Given the description of an element on the screen output the (x, y) to click on. 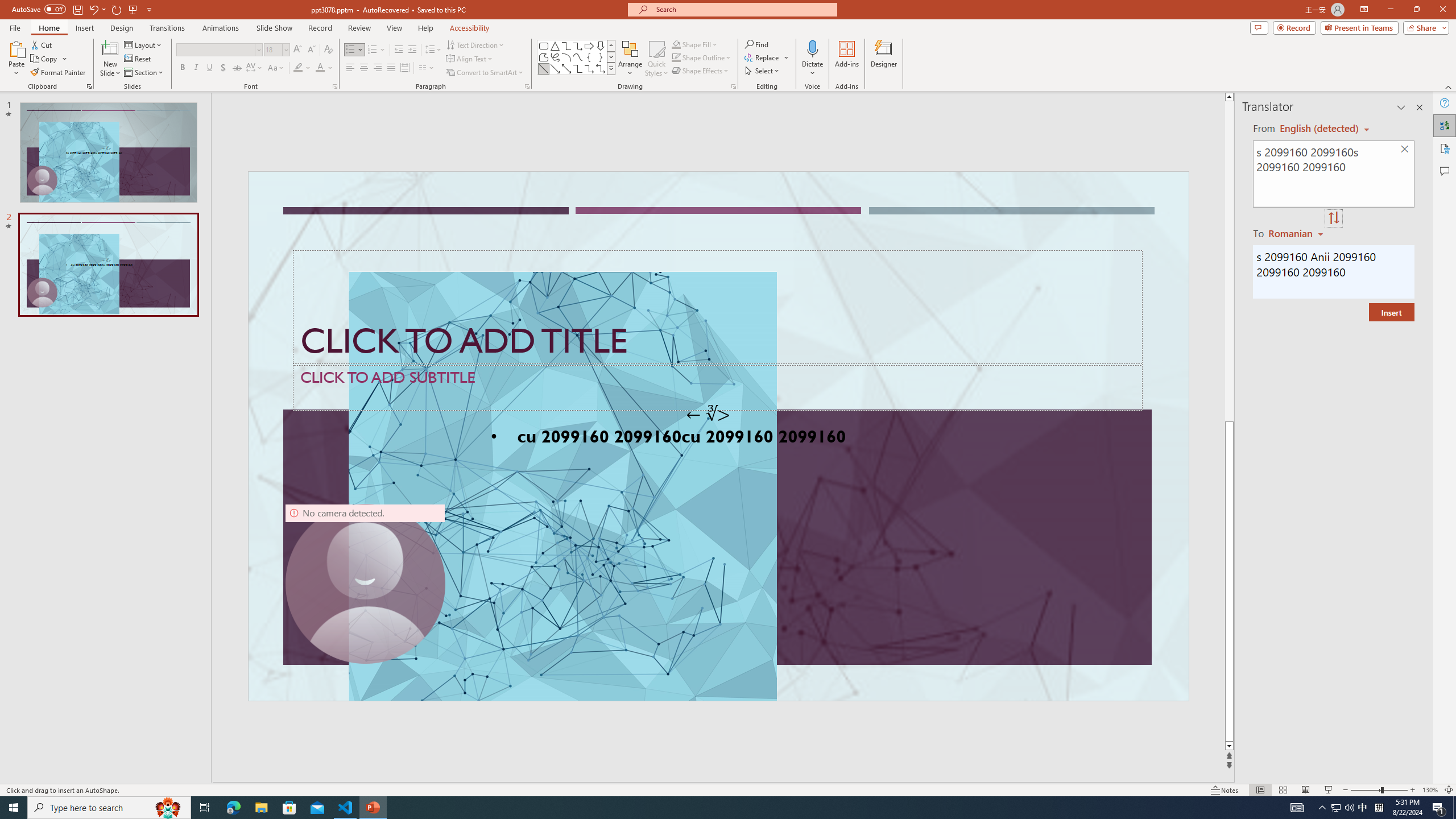
Czech (1296, 232)
Connector: Elbow Double-Arrow (600, 68)
Clear text (1404, 149)
